Given the description of an element on the screen output the (x, y) to click on. 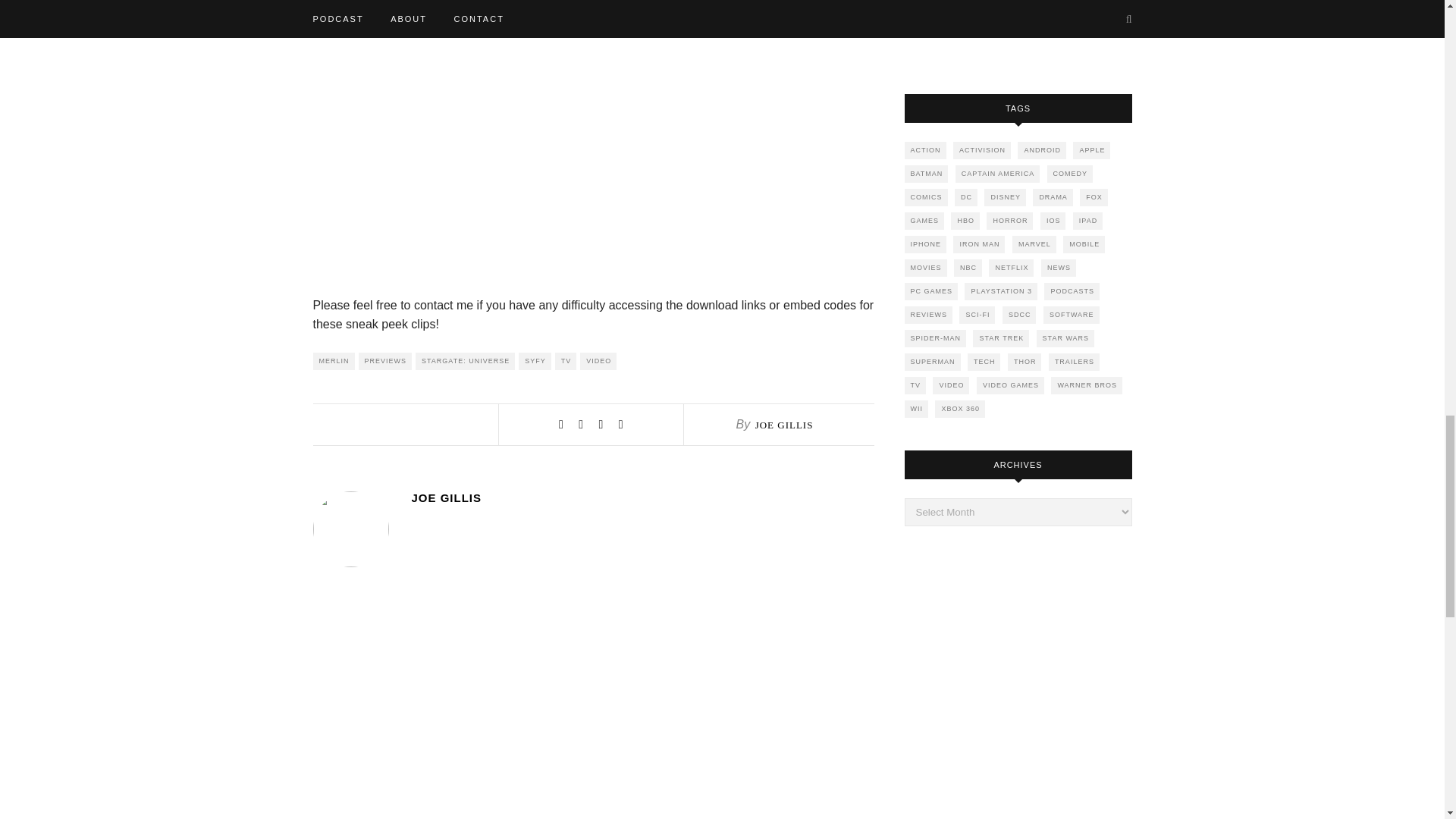
ACTIVISION (981, 149)
PREVIEWS (385, 361)
TV (565, 361)
JOE GILLIS (784, 424)
ACTION (924, 149)
JOE GILLIS (641, 497)
Posts by Joe Gillis (641, 497)
Posts by Joe Gillis (784, 424)
VIDEO (597, 361)
MERLIN (333, 361)
